Given the description of an element on the screen output the (x, y) to click on. 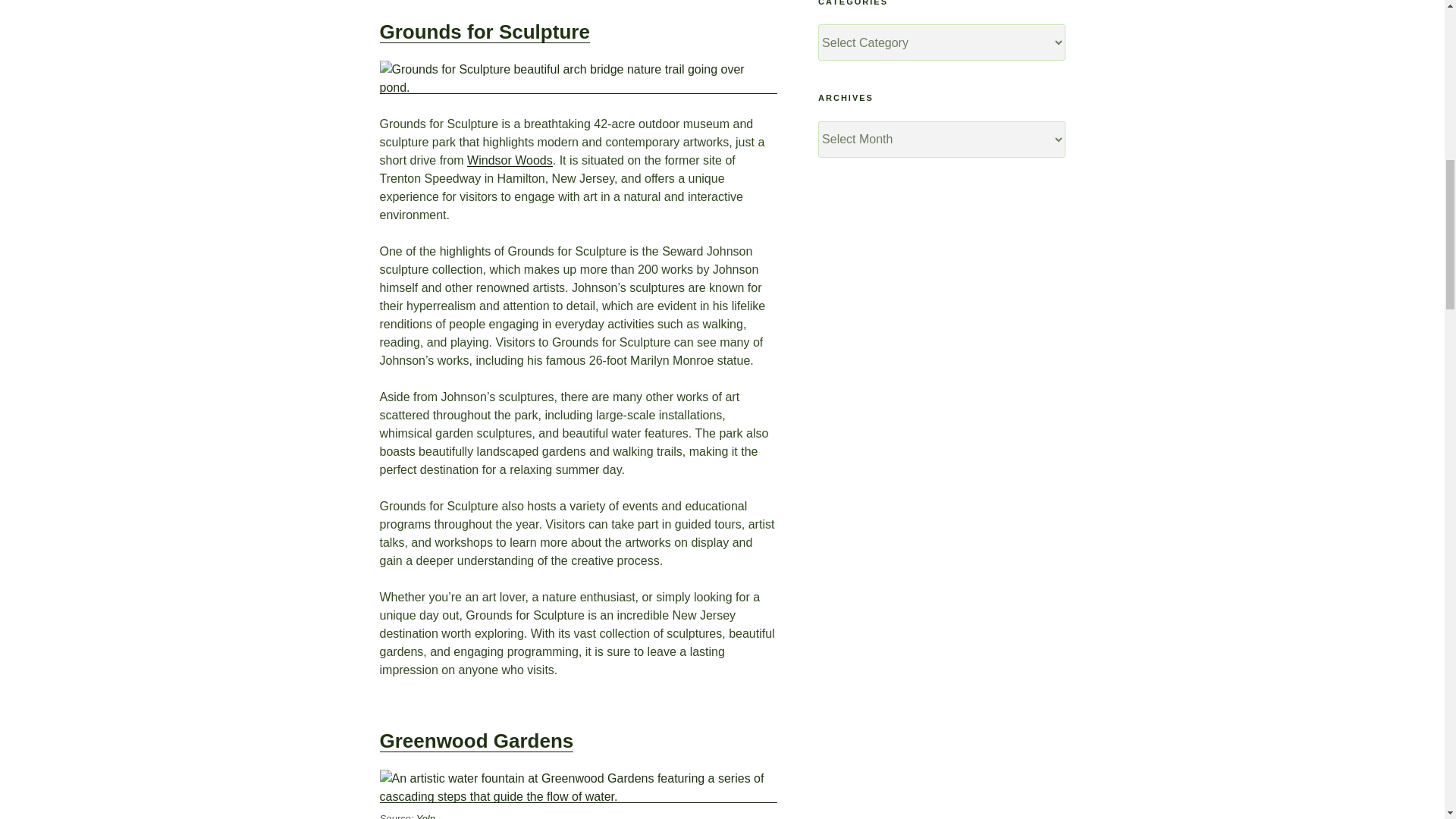
Grounds for Sculpture (483, 31)
Windsor Woods (510, 160)
Yelp (425, 816)
Greenwood Gardens (475, 740)
